Given the description of an element on the screen output the (x, y) to click on. 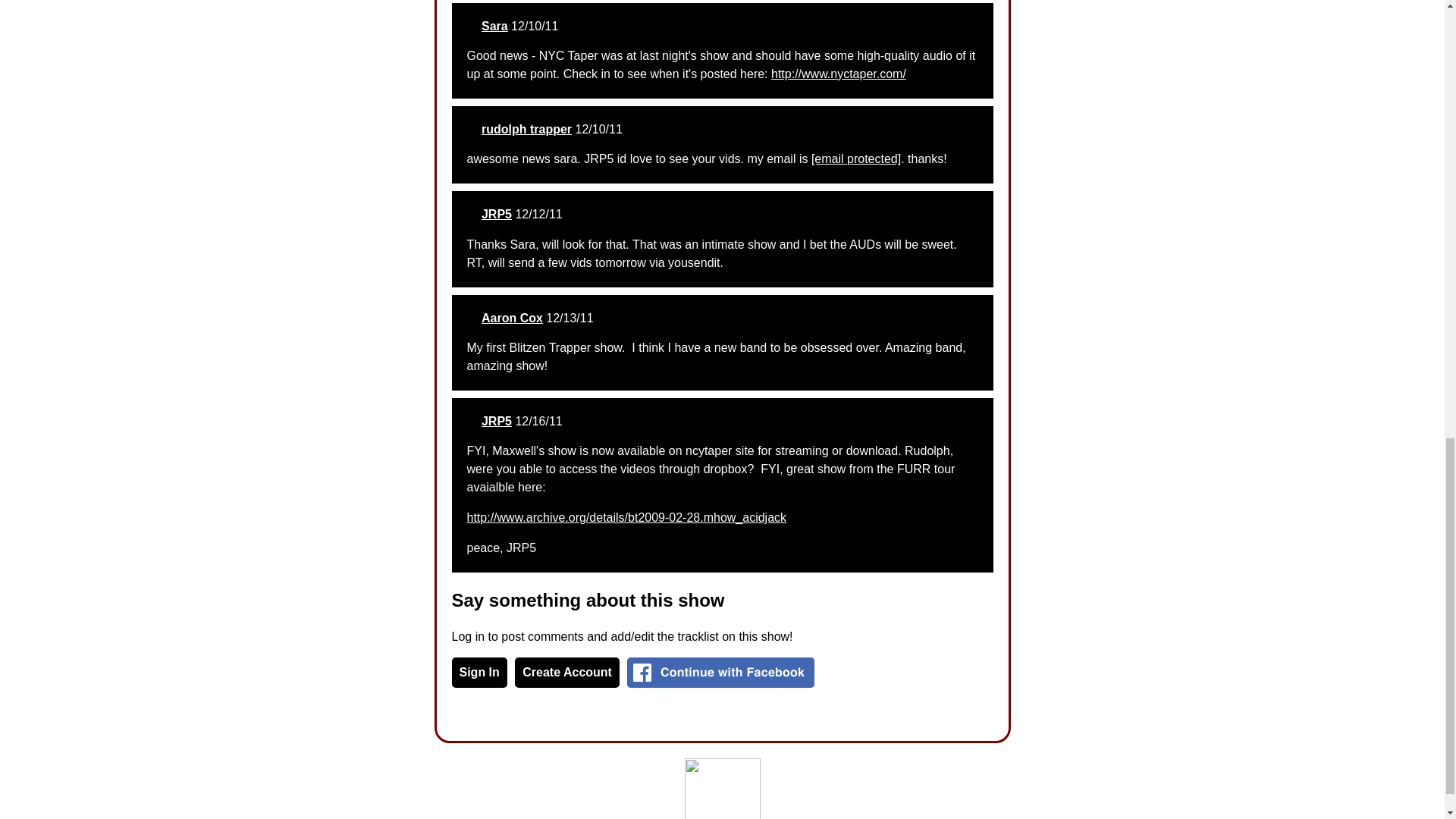
rudolph trapper (526, 128)
JRP5 (496, 214)
Create Account (567, 672)
Sign In (478, 672)
Sara (494, 25)
Continue with Facebook (720, 672)
Aaron Cox (512, 318)
JRP5 (496, 420)
